Given the description of an element on the screen output the (x, y) to click on. 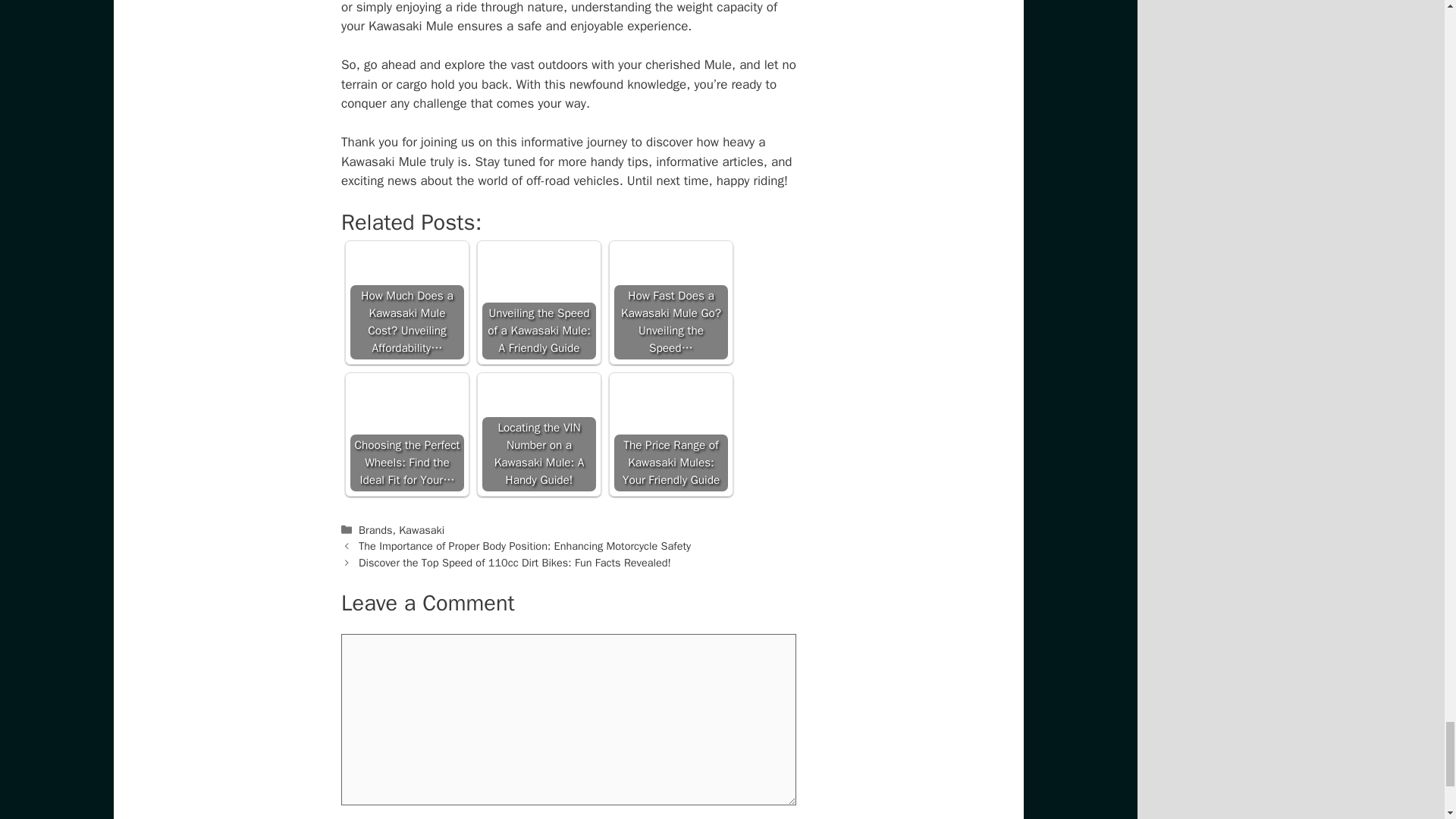
Unveiling the Speed of a Kawasaki Mule: A Friendly Guide (538, 283)
Unveiling the Speed of a Kawasaki Mule: A Friendly Guide (538, 302)
Locating the VIN Number on a Kawasaki Mule: A Handy Guide! (538, 434)
Kawasaki (421, 530)
The Price Range of Kawasaki Mules: Your Friendly Guide (671, 415)
Brands (374, 530)
The Price Range of Kawasaki Mules: Your Friendly Guide (671, 434)
Locating the VIN Number on a Kawasaki Mule: A Handy Guide! (538, 415)
